Given the description of an element on the screen output the (x, y) to click on. 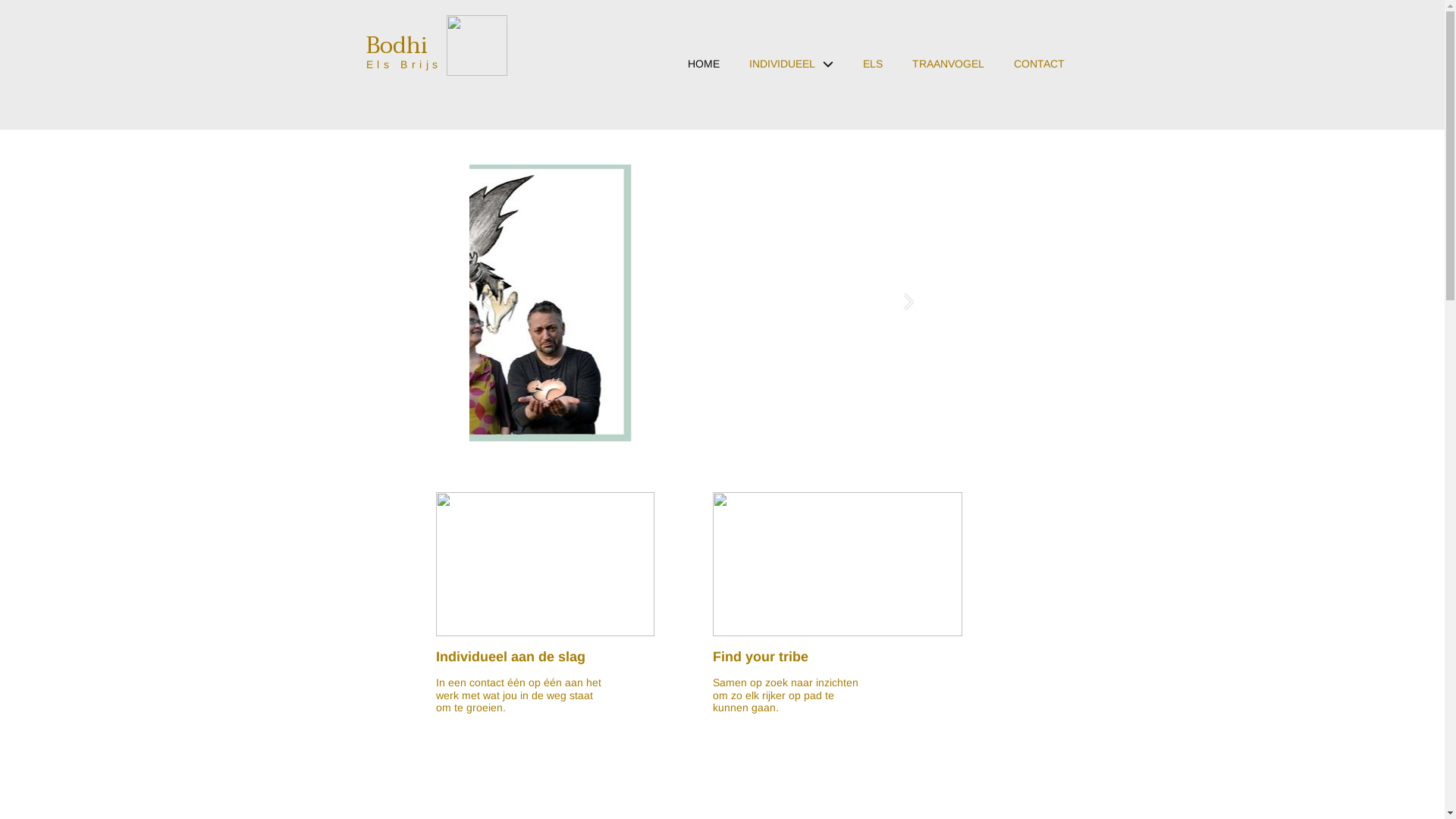
INDIVIDUEEL Element type: text (790, 71)
CONTACT Element type: text (1039, 71)
HOME Element type: text (703, 71)
ELS Element type: text (871, 71)
Individueel aan de slag Element type: text (509, 656)
TRAANVOGEL Element type: text (947, 71)
Find your tribe Element type: text (760, 656)
